Given the description of an element on the screen output the (x, y) to click on. 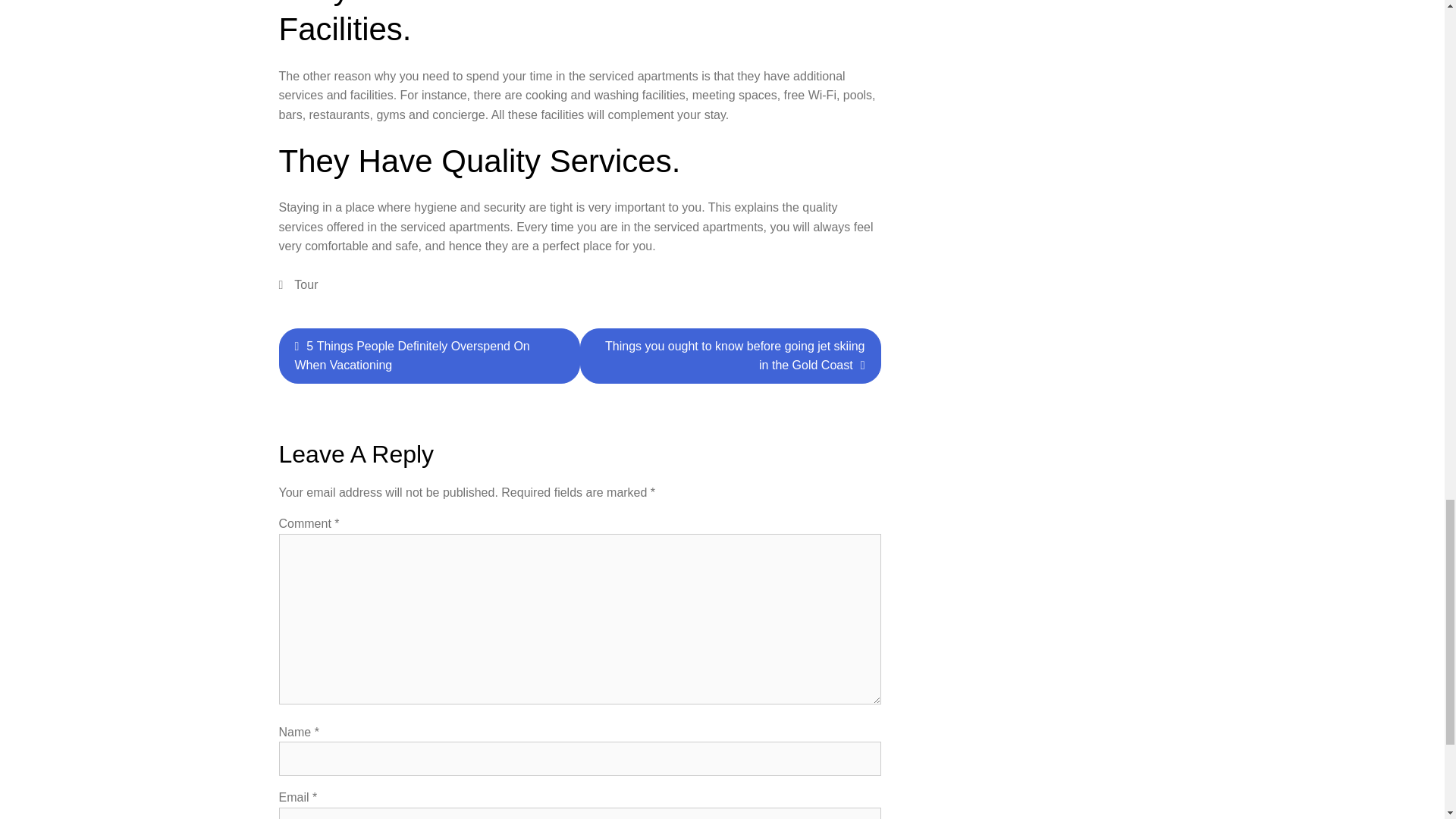
Tour (305, 284)
5 Things People Definitely Overspend On When Vacationing (429, 356)
